Given the description of an element on the screen output the (x, y) to click on. 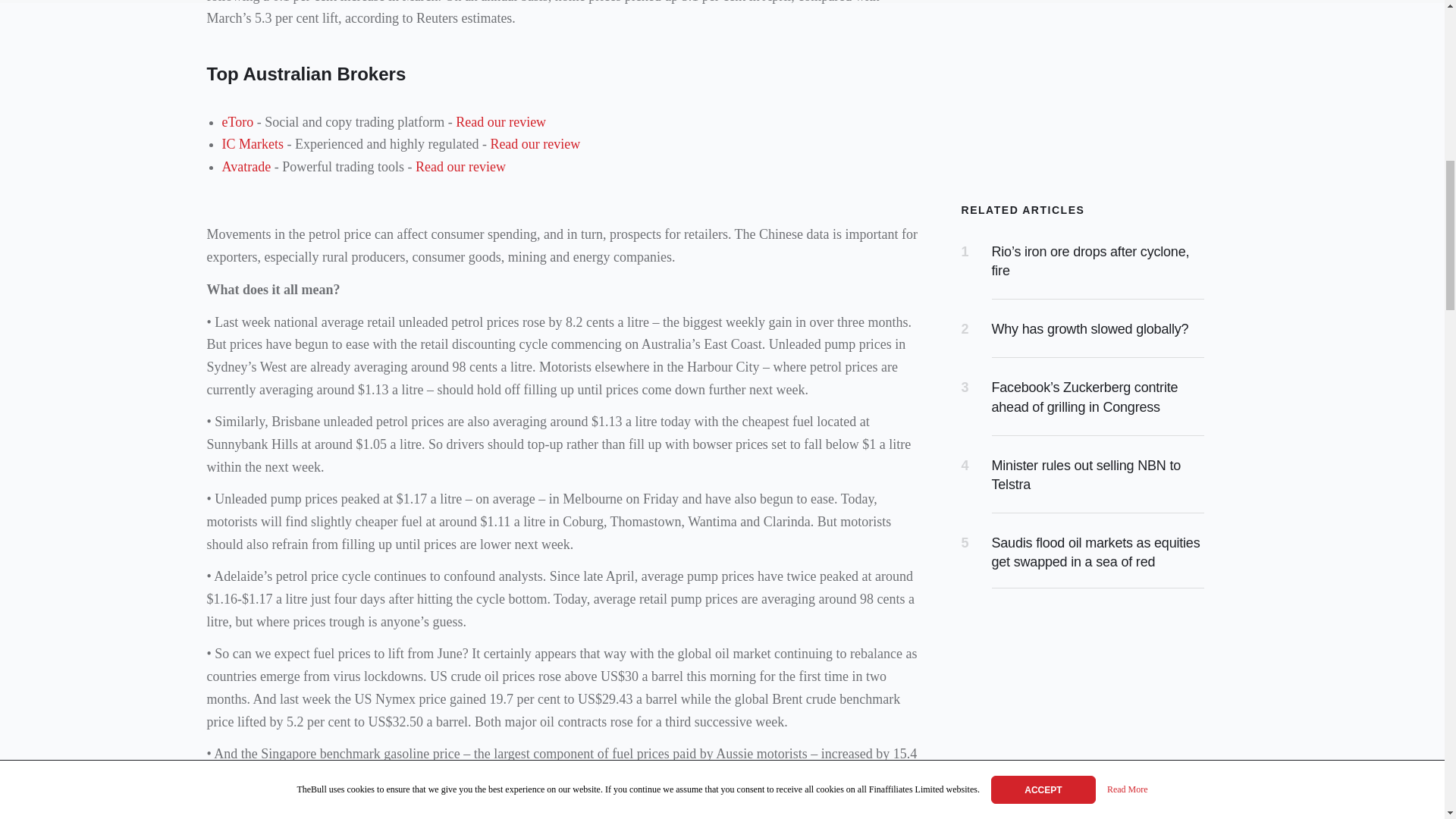
eToro (237, 121)
Avatrade (245, 166)
Why has growth slowed globally? (1090, 328)
Minister rules out selling NBN to Telstra (1085, 474)
IC Markets (251, 143)
Read our review (500, 121)
Read our review (534, 143)
Why has growth slowed globally? (1090, 328)
Minister rules out selling NBN to Telstra (1085, 474)
Read our review (459, 166)
